Given the description of an element on the screen output the (x, y) to click on. 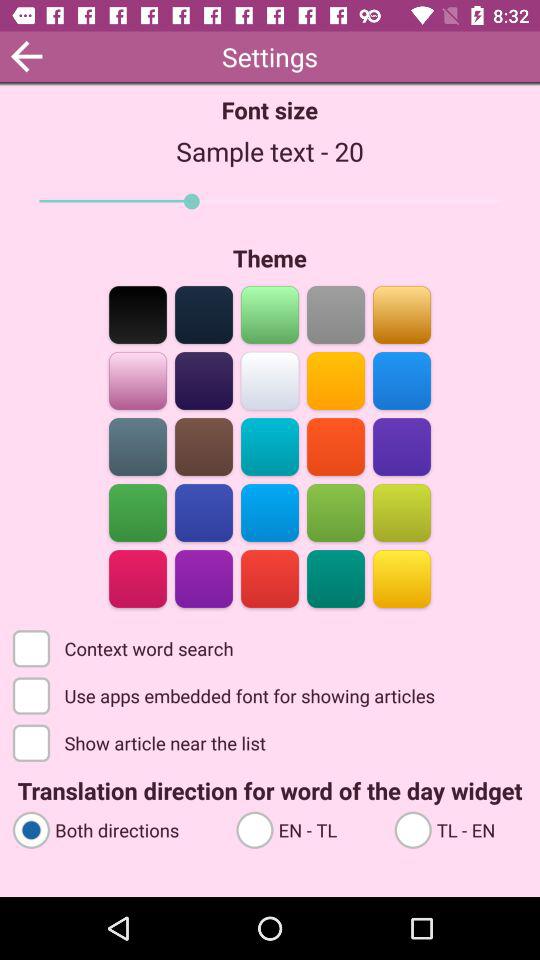
this color (401, 577)
